Given the description of an element on the screen output the (x, y) to click on. 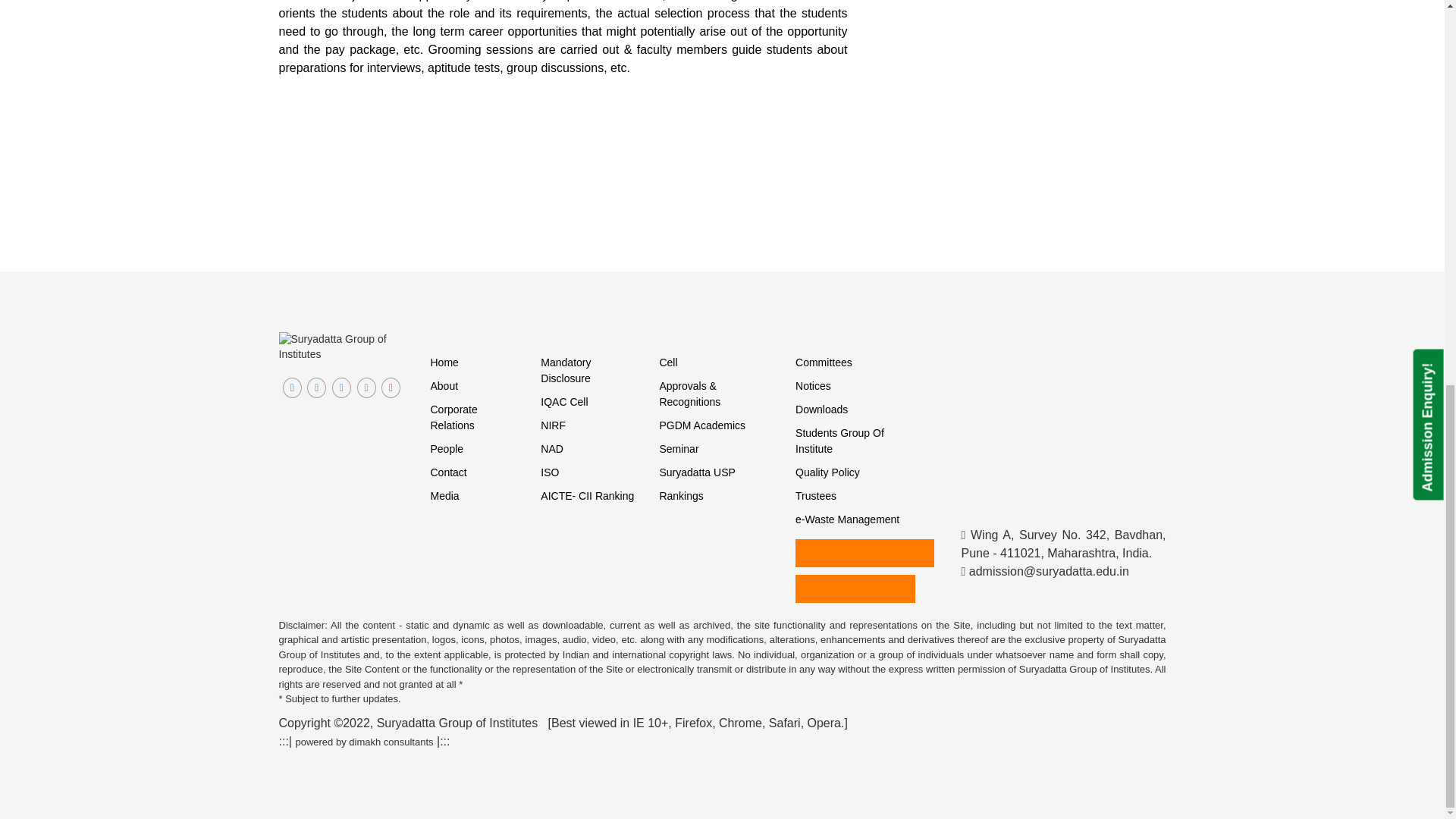
instagram (365, 387)
facebook (291, 387)
twitter (316, 387)
youtube (390, 387)
Suryadatta Group of Institutes (343, 347)
linkedin (340, 387)
